Given the description of an element on the screen output the (x, y) to click on. 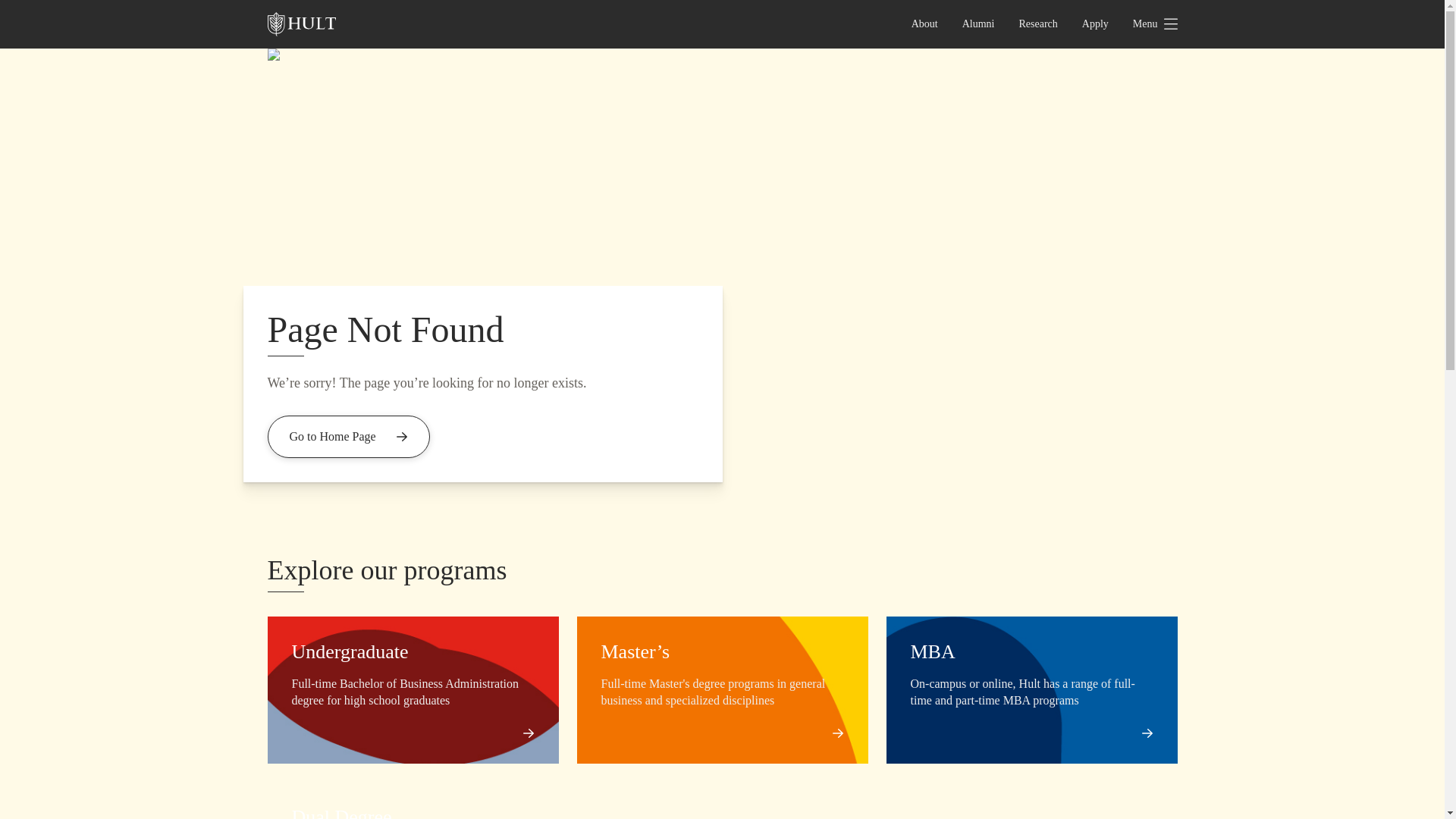
Research (1038, 24)
Dual Degree (341, 812)
See Bachelor Degree Program (523, 733)
Alumni (978, 24)
Go to Home Page (347, 436)
See MBA Degree Program (1142, 733)
MBA (932, 651)
Go to Home Page (347, 436)
See Bachelor Degree Program (832, 733)
Undergraduate (349, 651)
Apply (1095, 24)
About (924, 24)
